Given the description of an element on the screen output the (x, y) to click on. 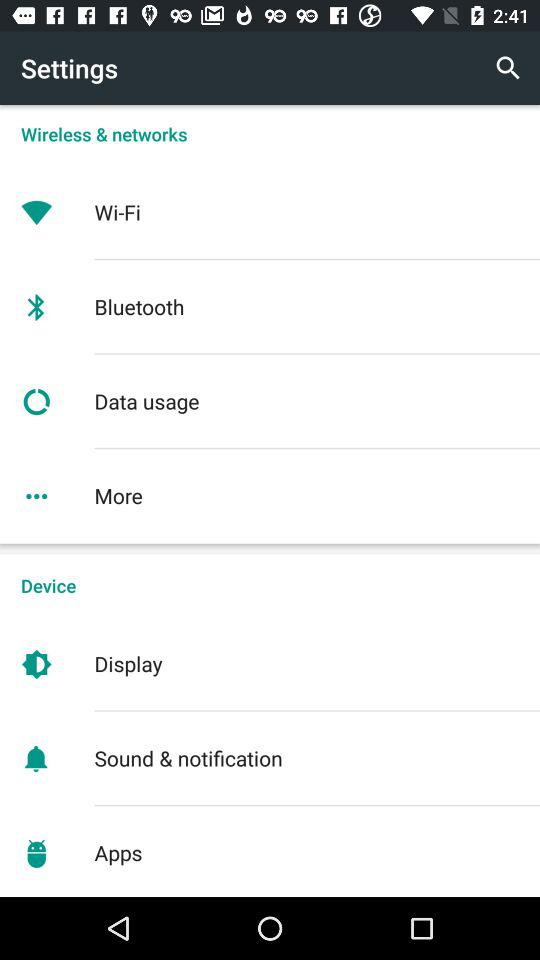
turn off the item above the wireless & networks item (508, 67)
